Given the description of an element on the screen output the (x, y) to click on. 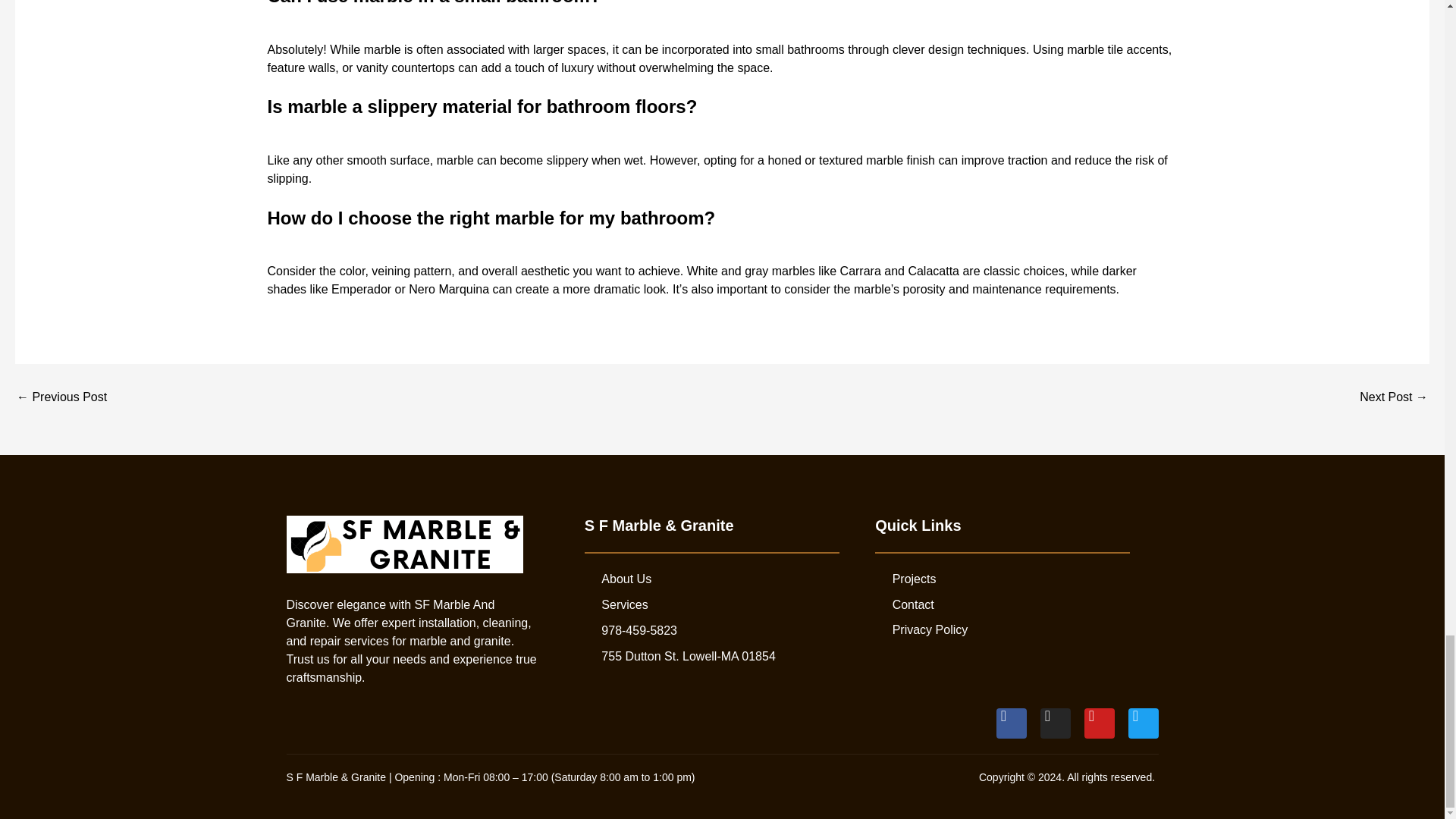
978-459-5823 (726, 630)
About Us (726, 579)
Youtube (1099, 723)
Marble Stone: A Luxurious and Timeless Option for Your Home (61, 397)
Instagram (1055, 723)
Services (726, 605)
Facebook-f (1010, 723)
Privacy Policy (1016, 629)
Projects (1016, 579)
Contact (1016, 605)
